Given the description of an element on the screen output the (x, y) to click on. 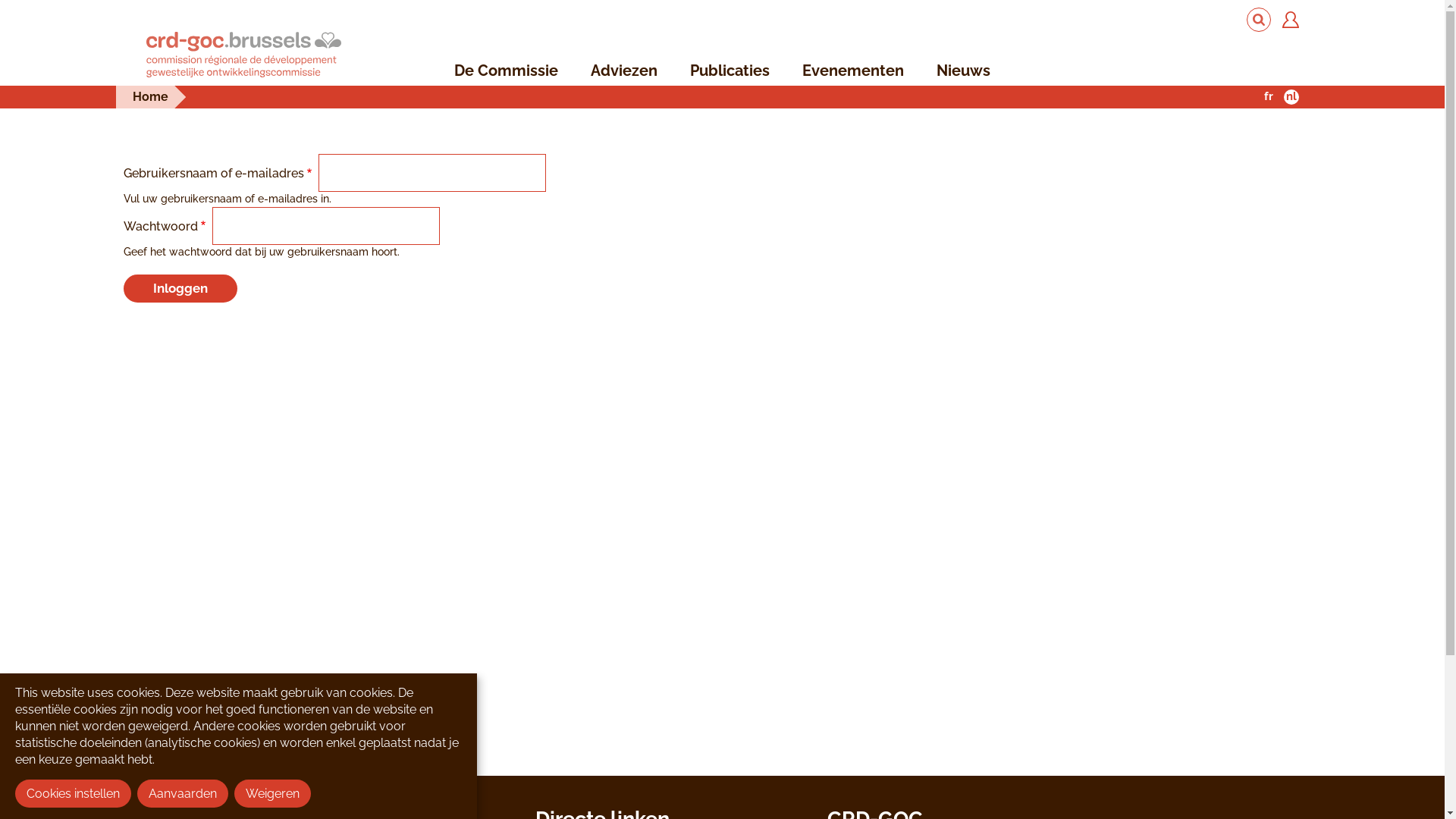
Uw wachtwoord opnieuw instellen Element type: text (240, 780)
Evenementen Element type: text (852, 70)
Weigeren Element type: text (272, 793)
De Commissie Element type: text (506, 70)
Geef de woorden op waarnaar u wilt zoeken. Element type: hover (1258, 19)
Inloggen Element type: text (91, 780)
Cookies instellen Element type: text (73, 793)
nl Element type: text (1290, 96)
Zoeken Element type: text (1258, 19)
fr Element type: text (1267, 96)
Zich inloggen Element type: hover (1289, 19)
Inloggen Element type: text (179, 288)
Home Element type: hover (243, 56)
Publicaties Element type: text (729, 70)
Home Element type: text (149, 96)
Aanvaarden Element type: text (182, 793)
Nieuws Element type: text (963, 70)
Adviezen Element type: text (623, 70)
